Given the description of an element on the screen output the (x, y) to click on. 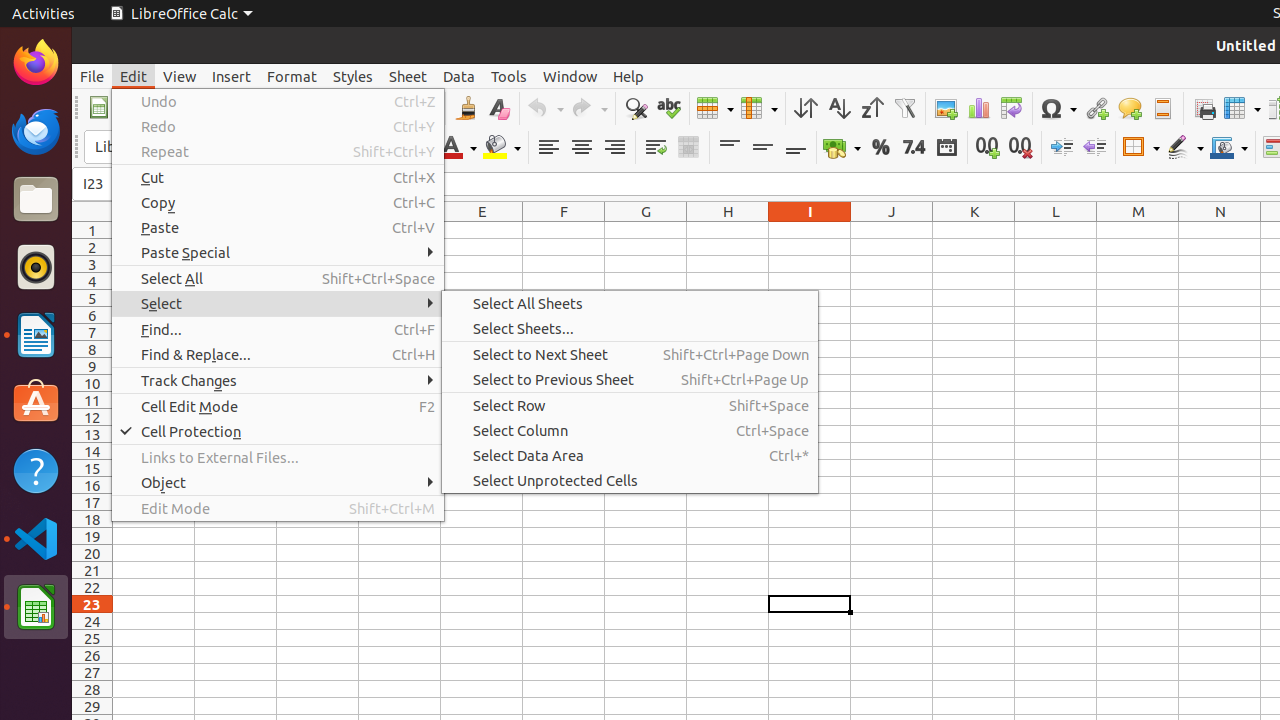
Select Unprotected Cells Element type: menu-item (630, 480)
Clone Element type: push-button (465, 108)
Currency Element type: push-button (842, 147)
Apply Style Element type: text (73, 129)
Paste Special Element type: menu (278, 252)
